Given the description of an element on the screen output the (x, y) to click on. 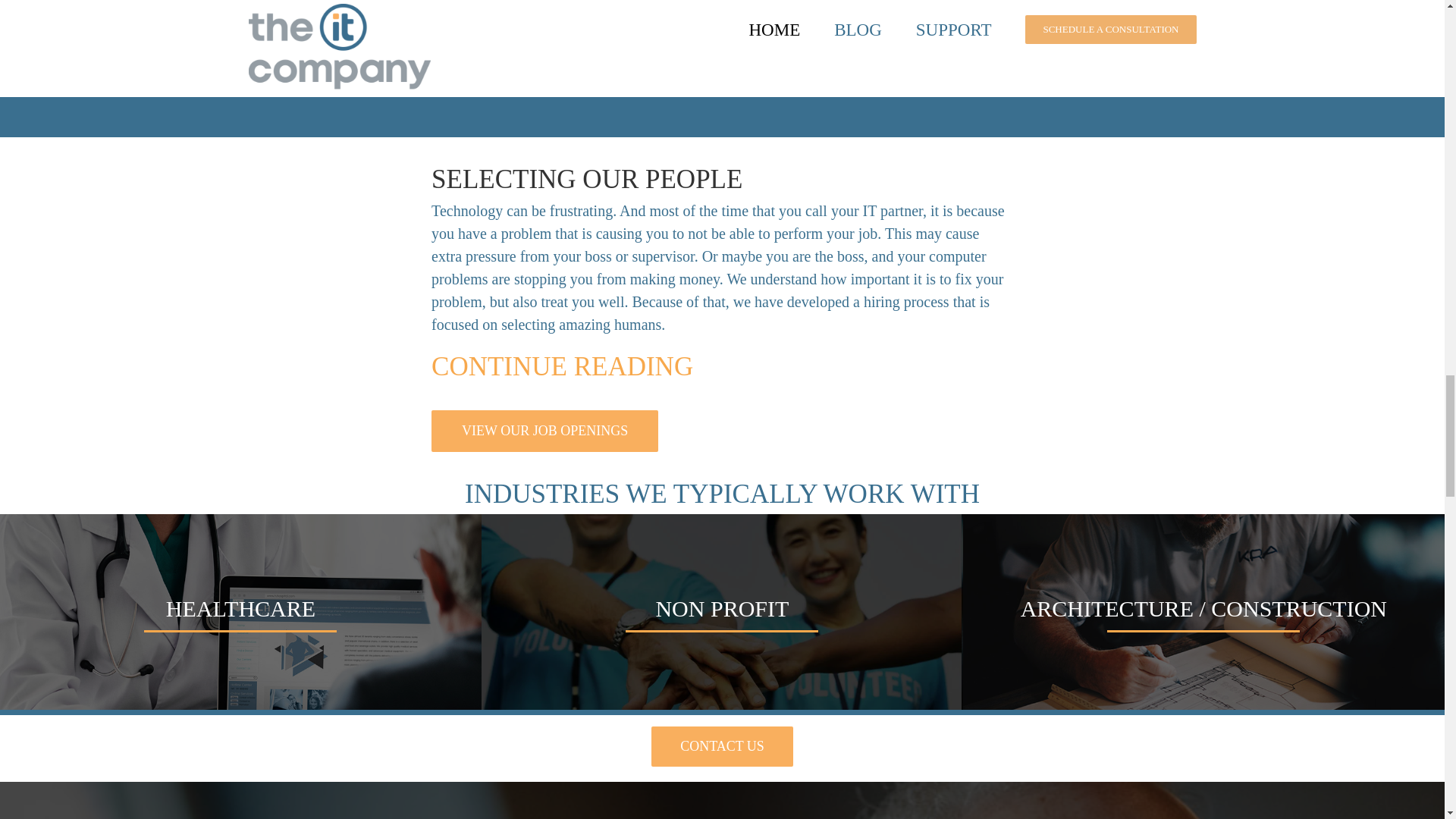
CONTACT US (721, 746)
VIEW OUR JOB OPENINGS (544, 431)
